Given the description of an element on the screen output the (x, y) to click on. 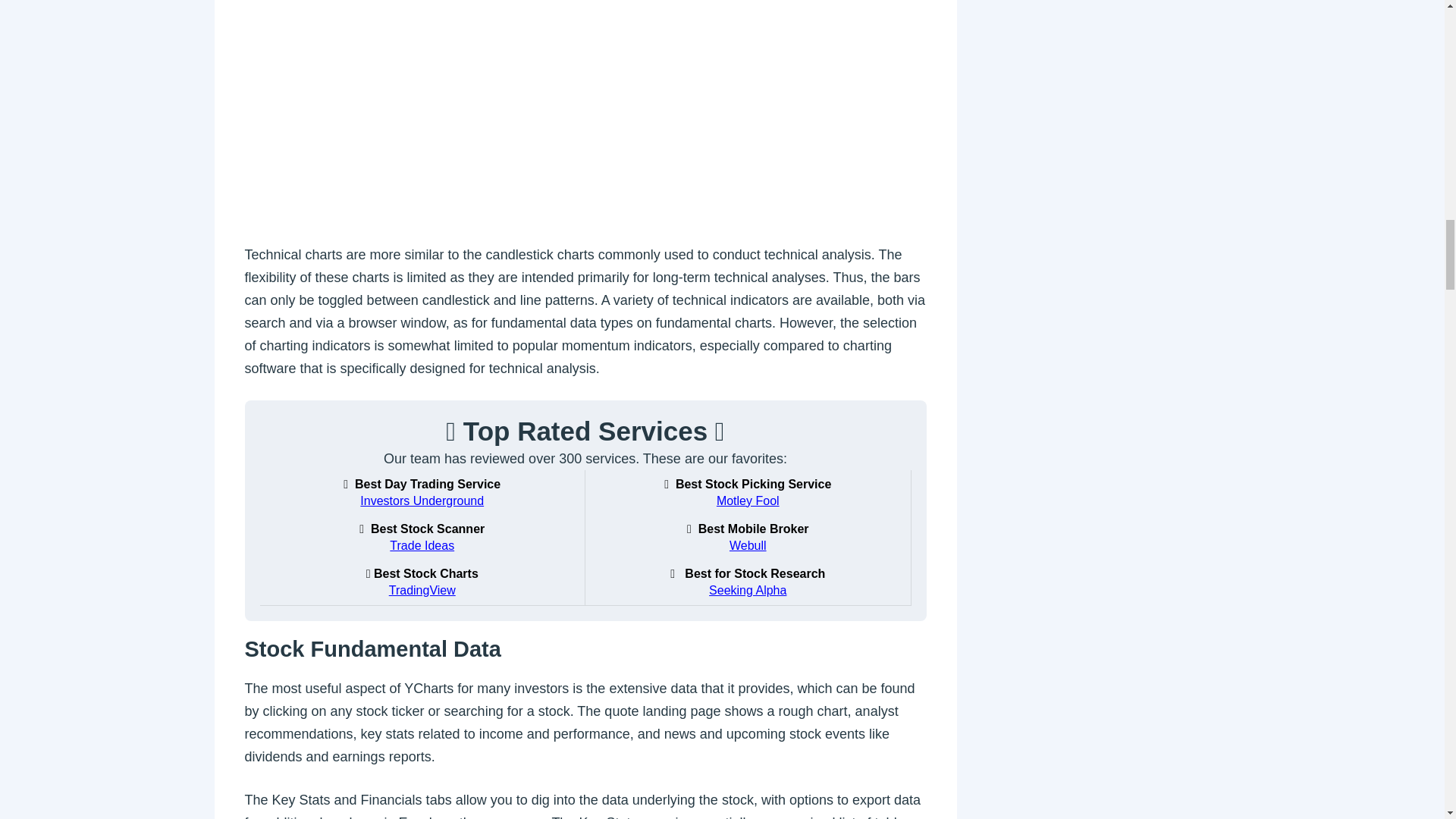
TradingView (421, 590)
Motley Fool (747, 501)
Trade Ideas (422, 545)
Investors Underground (421, 501)
Webull (748, 545)
Seeking Alpha (747, 590)
